Given the description of an element on the screen output the (x, y) to click on. 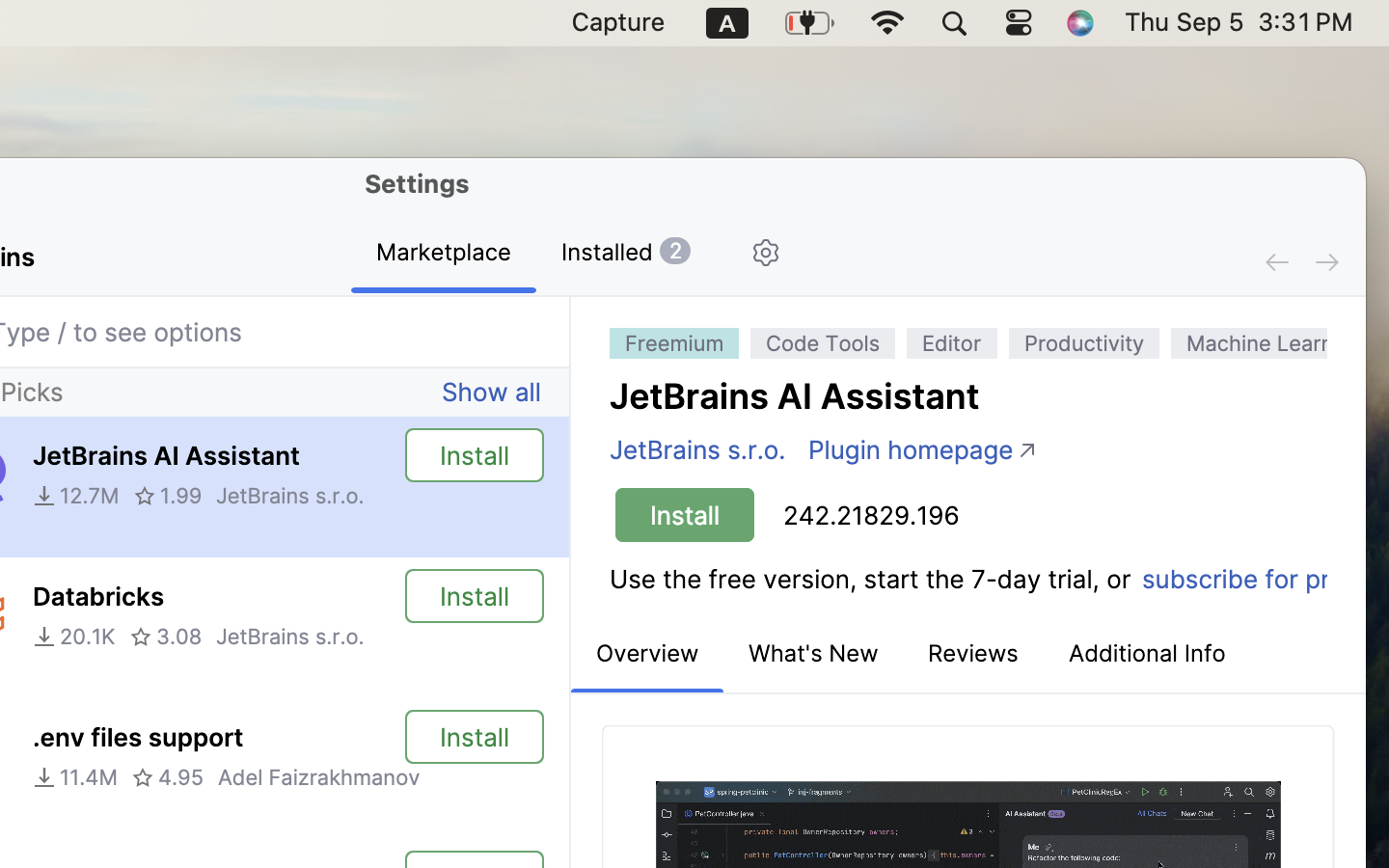
20.1K Element type: AXStaticText (73, 636)
JetBrains AI Assistant Element type: AXStaticText (165, 455)
11.4M Element type: AXStaticText (74, 776)
1 Element type: AXRadioButton (647, 654)
<AXUIElement 0x12c778890> {pid=4021} Element type: AXTabGroup (536, 254)
